Given the description of an element on the screen output the (x, y) to click on. 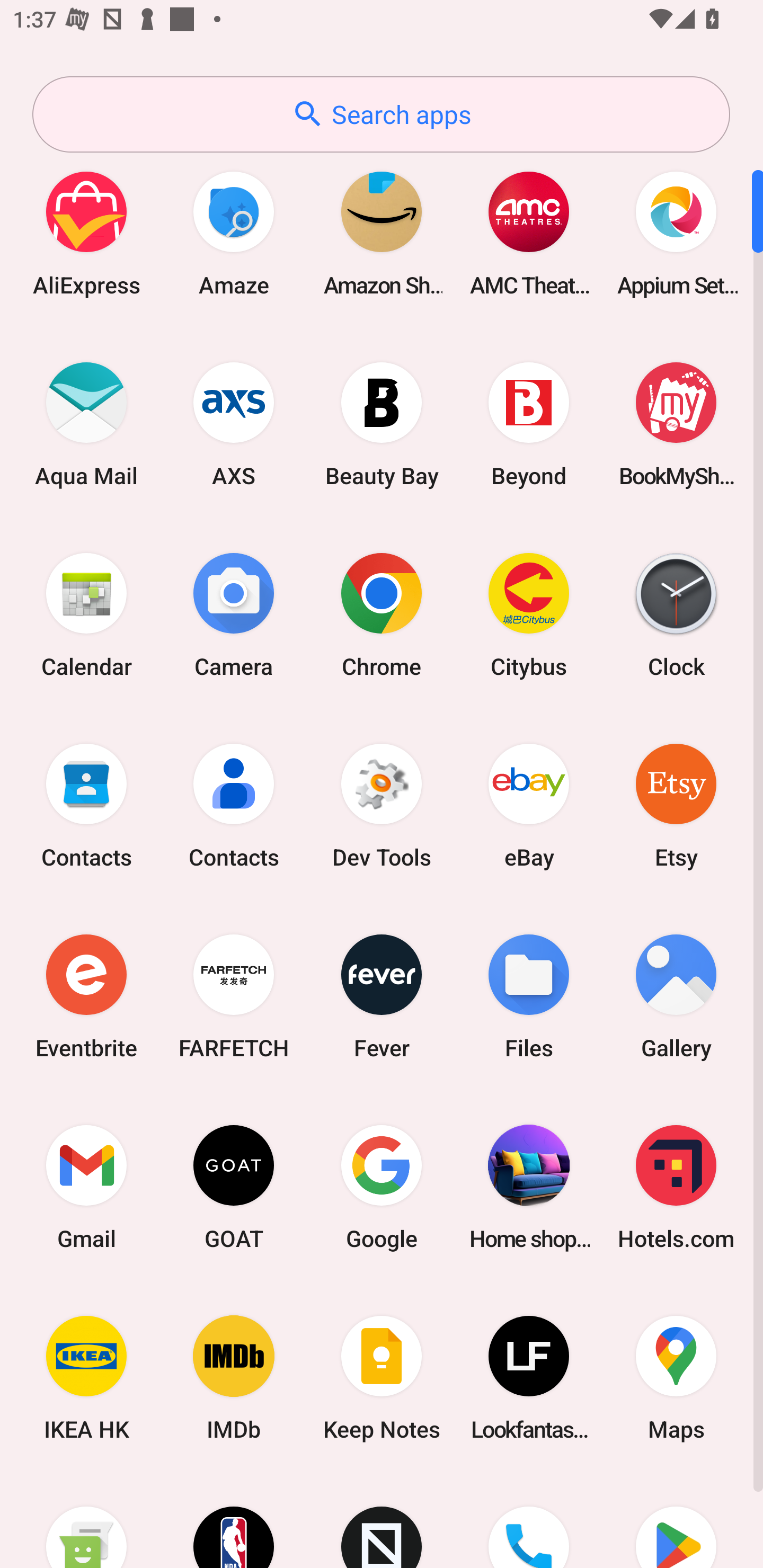
  Search apps (381, 114)
AliExpress (86, 233)
Amaze (233, 233)
Amazon Shopping (381, 233)
AMC Theatres (528, 233)
Appium Settings (676, 233)
Aqua Mail (86, 424)
AXS (233, 424)
Beauty Bay (381, 424)
Beyond (528, 424)
BookMyShow (676, 424)
Calendar (86, 614)
Camera (233, 614)
Chrome (381, 614)
Citybus (528, 614)
Clock (676, 614)
Contacts (86, 805)
Contacts (233, 805)
Dev Tools (381, 805)
eBay (528, 805)
Etsy (676, 805)
Eventbrite (86, 996)
FARFETCH (233, 996)
Fever (381, 996)
Files (528, 996)
Gallery (676, 996)
Gmail (86, 1186)
GOAT (233, 1186)
Google (381, 1186)
Home shopping (528, 1186)
Hotels.com (676, 1186)
IKEA HK (86, 1377)
IMDb (233, 1377)
Keep Notes (381, 1377)
Lookfantastic (528, 1377)
Maps (676, 1377)
Messaging (86, 1520)
NBA (233, 1520)
Novelship (381, 1520)
Phone (528, 1520)
Play Store (676, 1520)
